Given the description of an element on the screen output the (x, y) to click on. 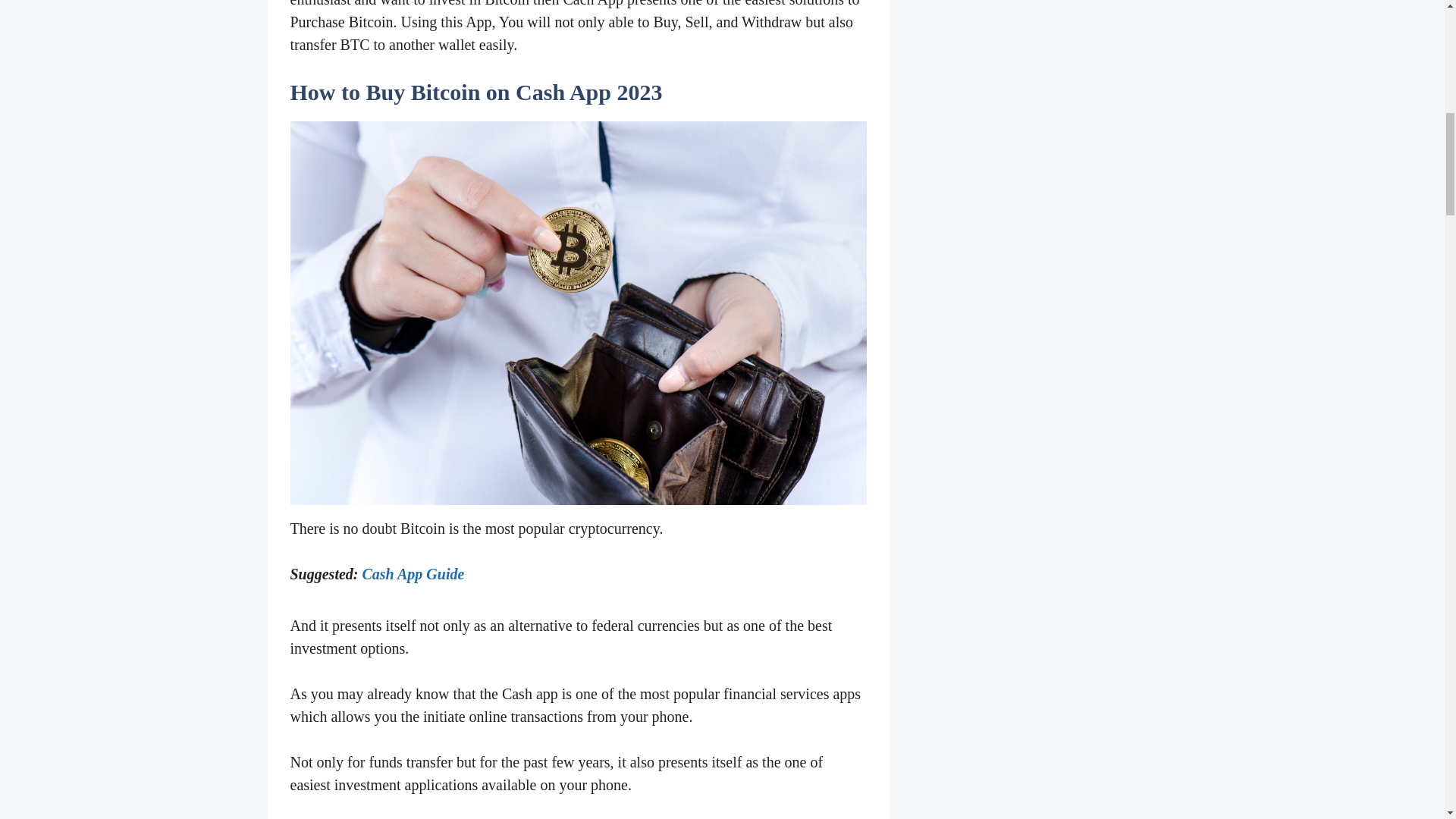
Cash App Guide (413, 573)
